Given the description of an element on the screen output the (x, y) to click on. 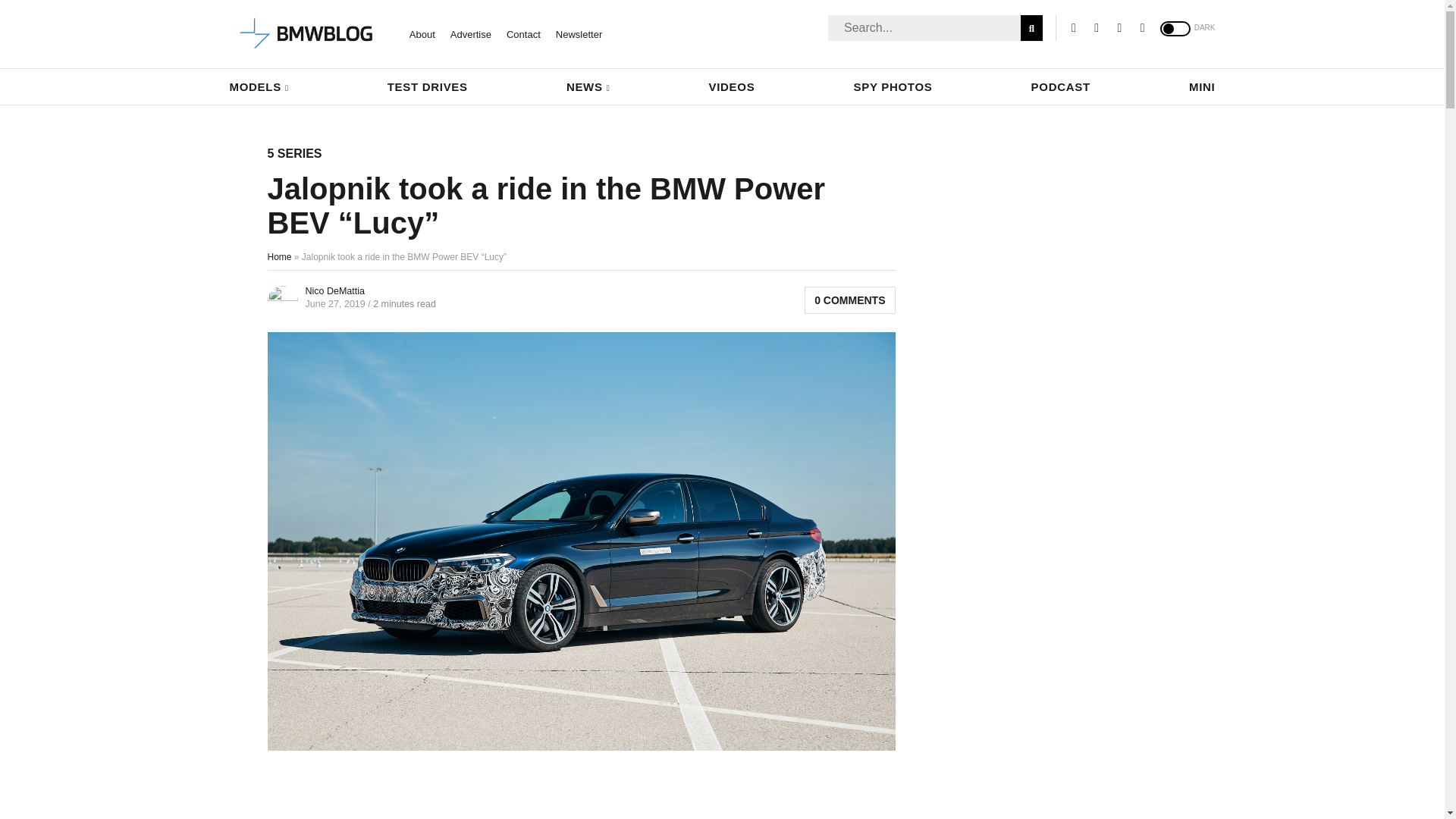
Advertise (470, 34)
Nico DeMattia (334, 290)
Newsletter (579, 34)
MODELS (258, 86)
BMW BLOG (306, 34)
About (422, 34)
Contact (523, 34)
